Given the description of an element on the screen output the (x, y) to click on. 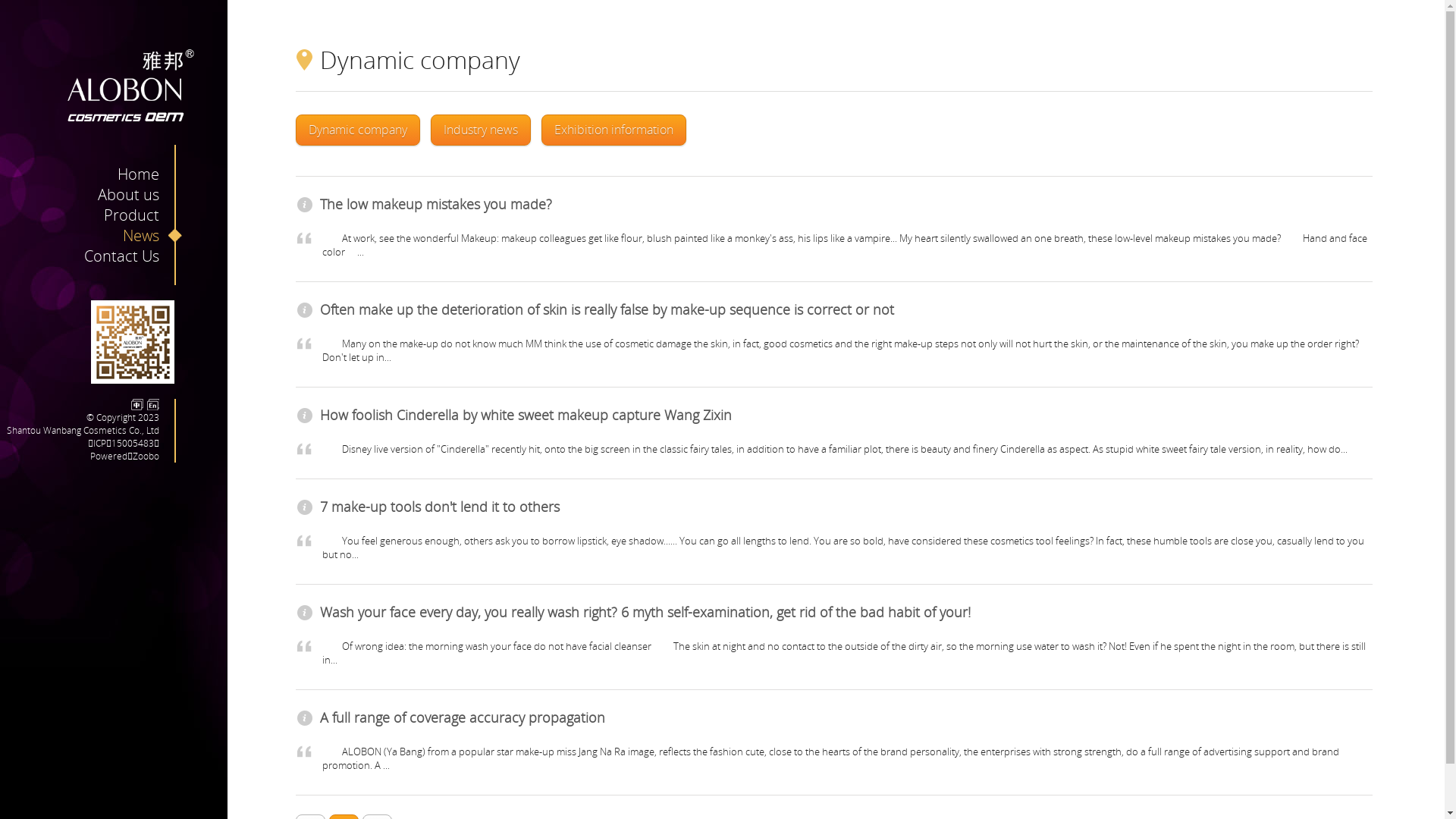
Home Element type: text (149, 173)
Exhibition information Element type: text (613, 129)
Product Element type: text (142, 214)
News Element type: text (152, 235)
Dynamic company Element type: text (357, 129)
7 make-up tools don't lend it to others Element type: text (439, 506)
Industry news Element type: text (480, 129)
The low makeup mistakes you made? Element type: text (436, 203)
About us Element type: text (139, 194)
Contact Us Element type: text (133, 255)
A full range of coverage accuracy propagation Element type: text (462, 717)
